Given the description of an element on the screen output the (x, y) to click on. 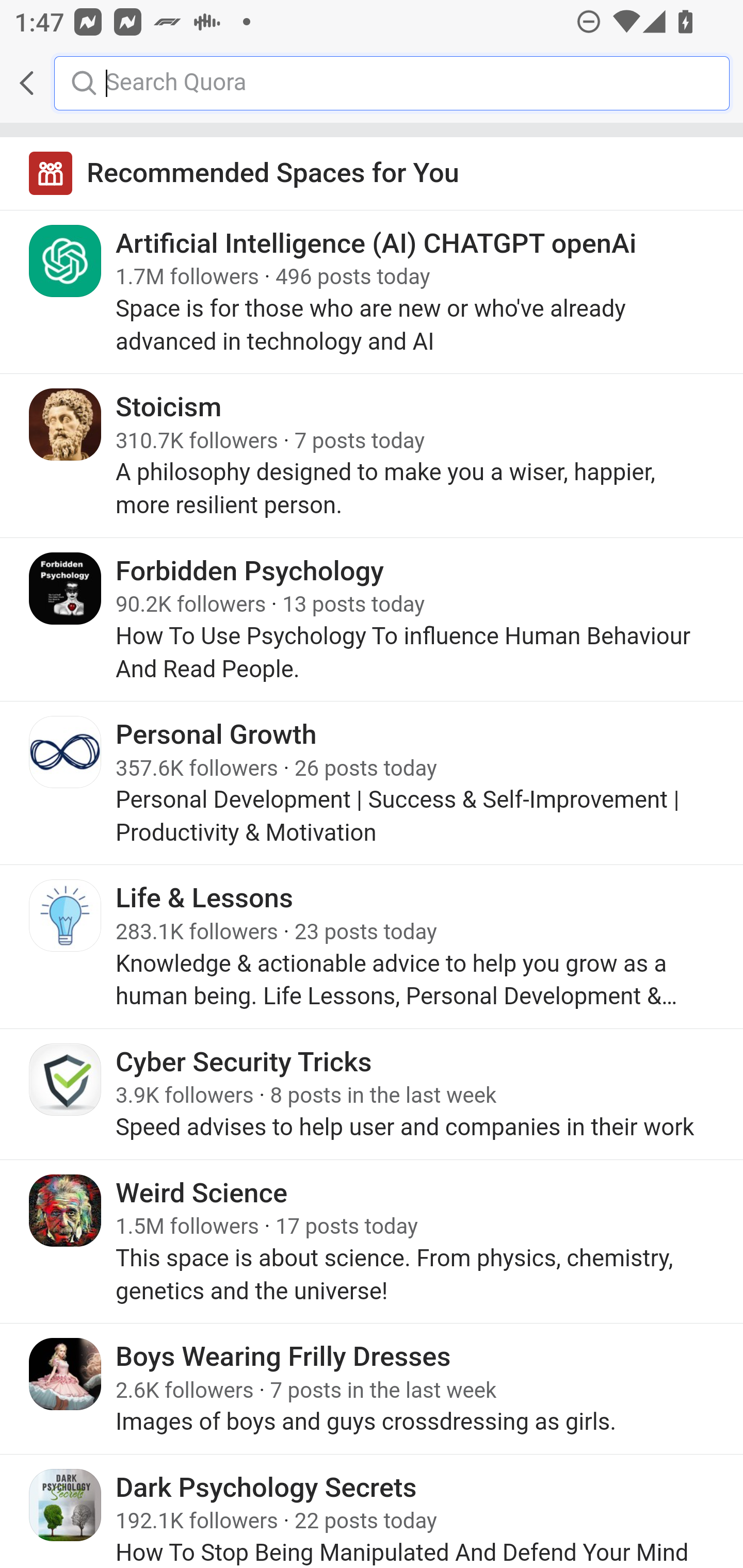
Me (64, 83)
Icon for Stoicism (65, 424)
Icon for Forbidden Psychology (65, 587)
Icon for Personal Growth (65, 751)
Icon for Life & Lessons (65, 916)
Icon for Cyber Security Tricks (65, 1078)
Icon for Weird Science (65, 1209)
Icon for Boys Wearing Frilly Dresses (65, 1374)
Icon for Dark Psychology Secrets (65, 1504)
